Given the description of an element on the screen output the (x, y) to click on. 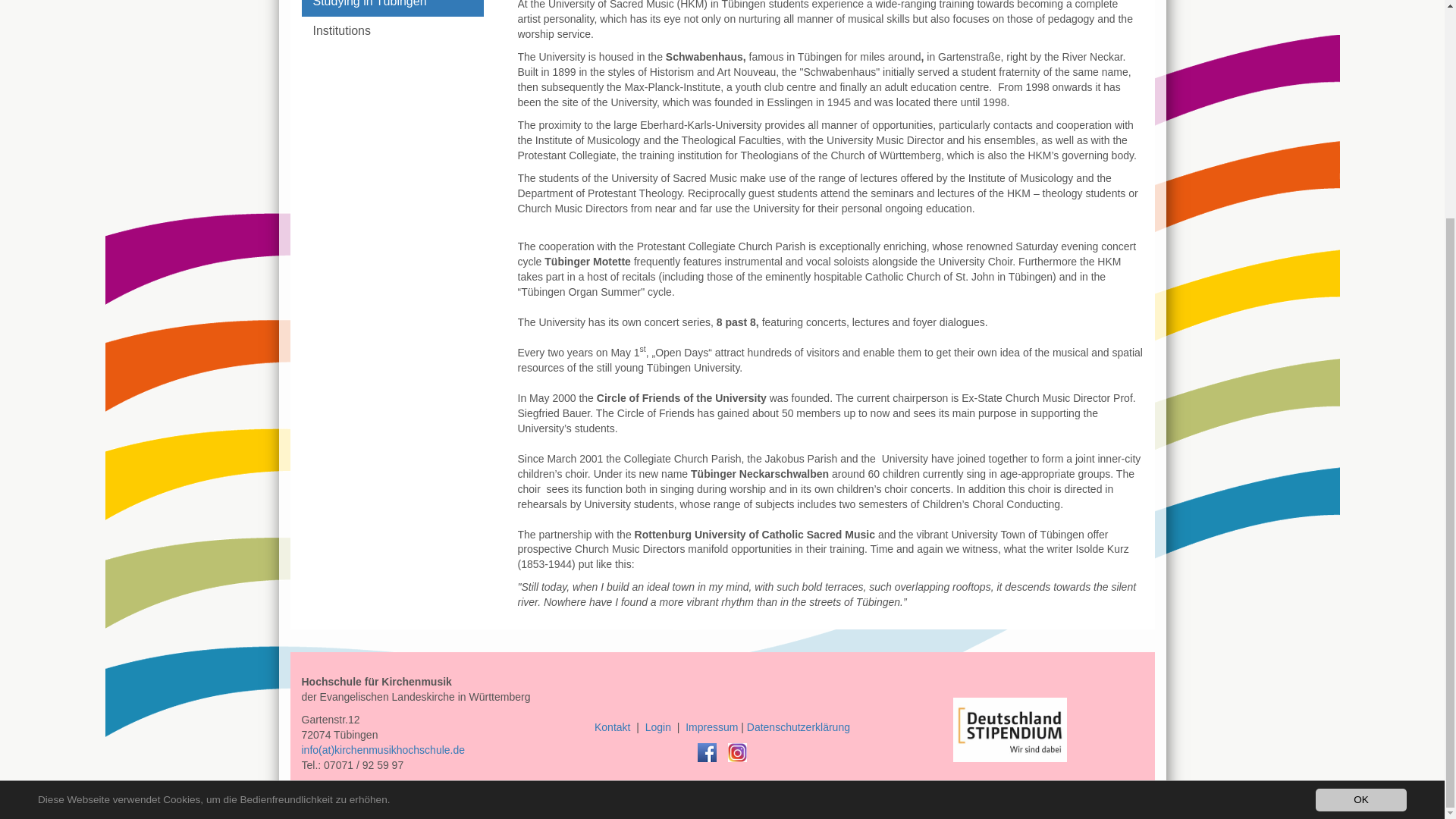
Impressum (711, 727)
Opens internal link in current window (711, 727)
Opens internal link in current window (658, 727)
Login (658, 727)
Kontakt (612, 727)
Institutions (392, 30)
